Given the description of an element on the screen output the (x, y) to click on. 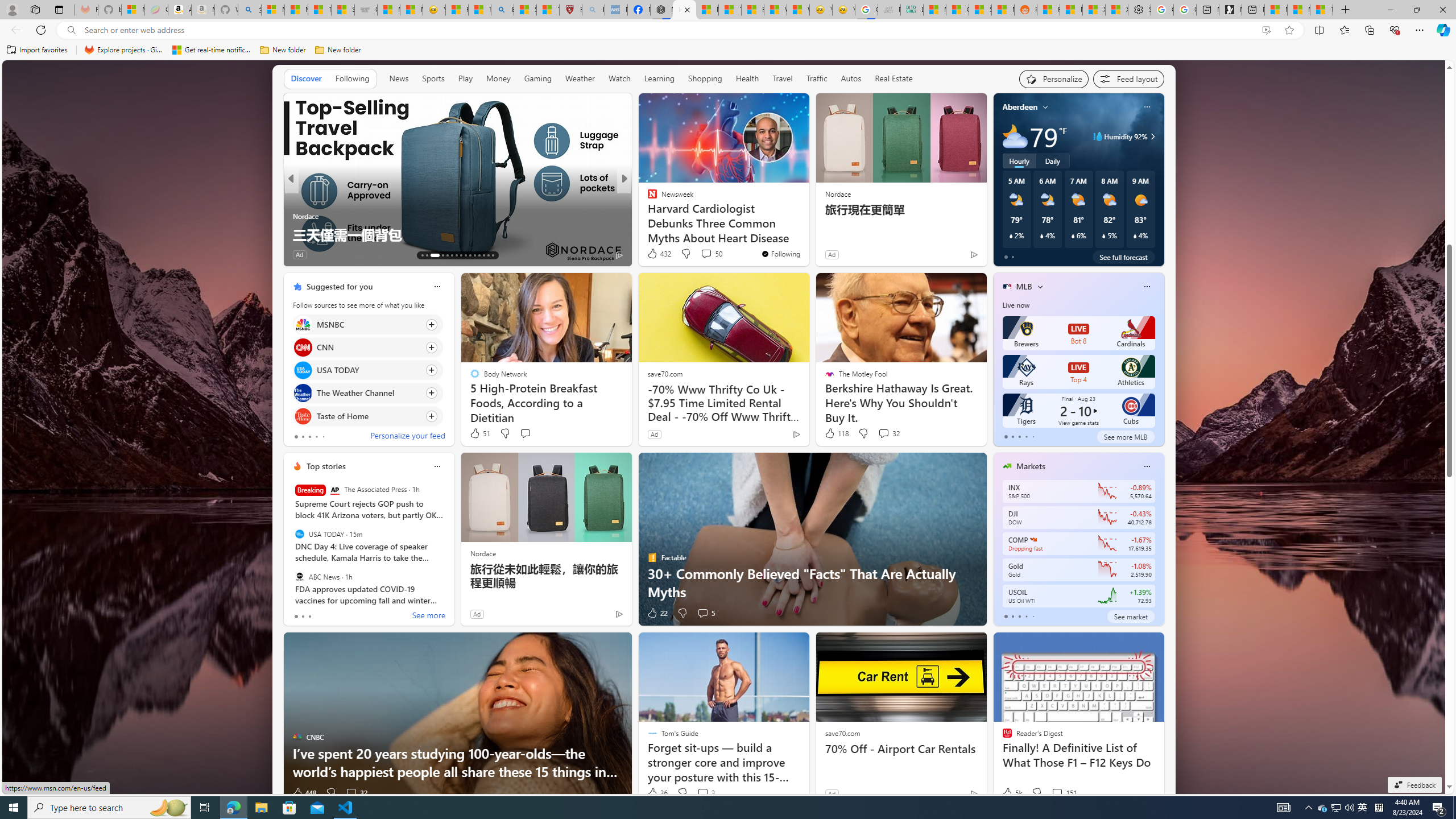
View comments 104 Comment (709, 254)
Autos (851, 78)
1 Like (651, 254)
Import favorites (36, 49)
36 Like (657, 792)
AutomationID: tab-67 (426, 255)
17 Things Every Man Should Know About His Wife (807, 234)
Learning (659, 79)
Brewers LIVE Bot 8 Cardinals (1077, 333)
View comments 14 Comment (707, 254)
AutomationID: tab-75 (470, 255)
